Given the description of an element on the screen output the (x, y) to click on. 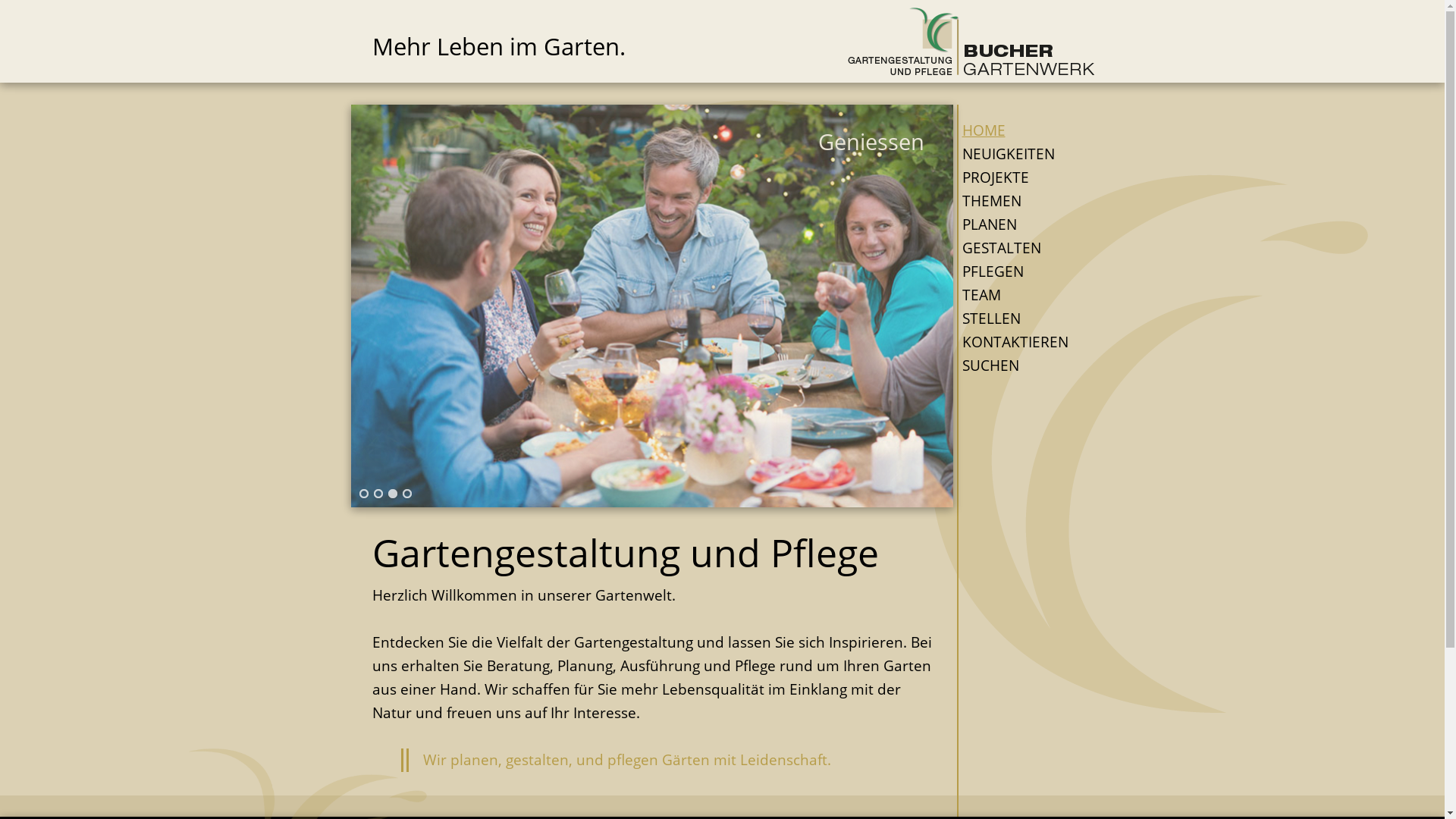
KONTAKTIEREN Element type: text (1020, 342)
STELLEN Element type: text (1020, 317)
PFLEGEN Element type: text (1020, 270)
TEAM Element type: text (1020, 295)
PLANEN Element type: text (1020, 223)
SUCHEN Element type: text (1020, 364)
GESTALTEN Element type: text (1020, 248)
pflegen Element type: text (632, 759)
NEUIGKEITEN Element type: text (1020, 154)
gestalten Element type: text (536, 759)
HOME Element type: text (1020, 129)
3 Element type: text (391, 494)
PROJEKTE Element type: text (1020, 176)
planen Element type: text (474, 759)
2 Element type: text (378, 494)
1 Element type: text (362, 494)
THEMEN Element type: text (1020, 201)
4 Element type: text (406, 494)
